Given the description of an element on the screen output the (x, y) to click on. 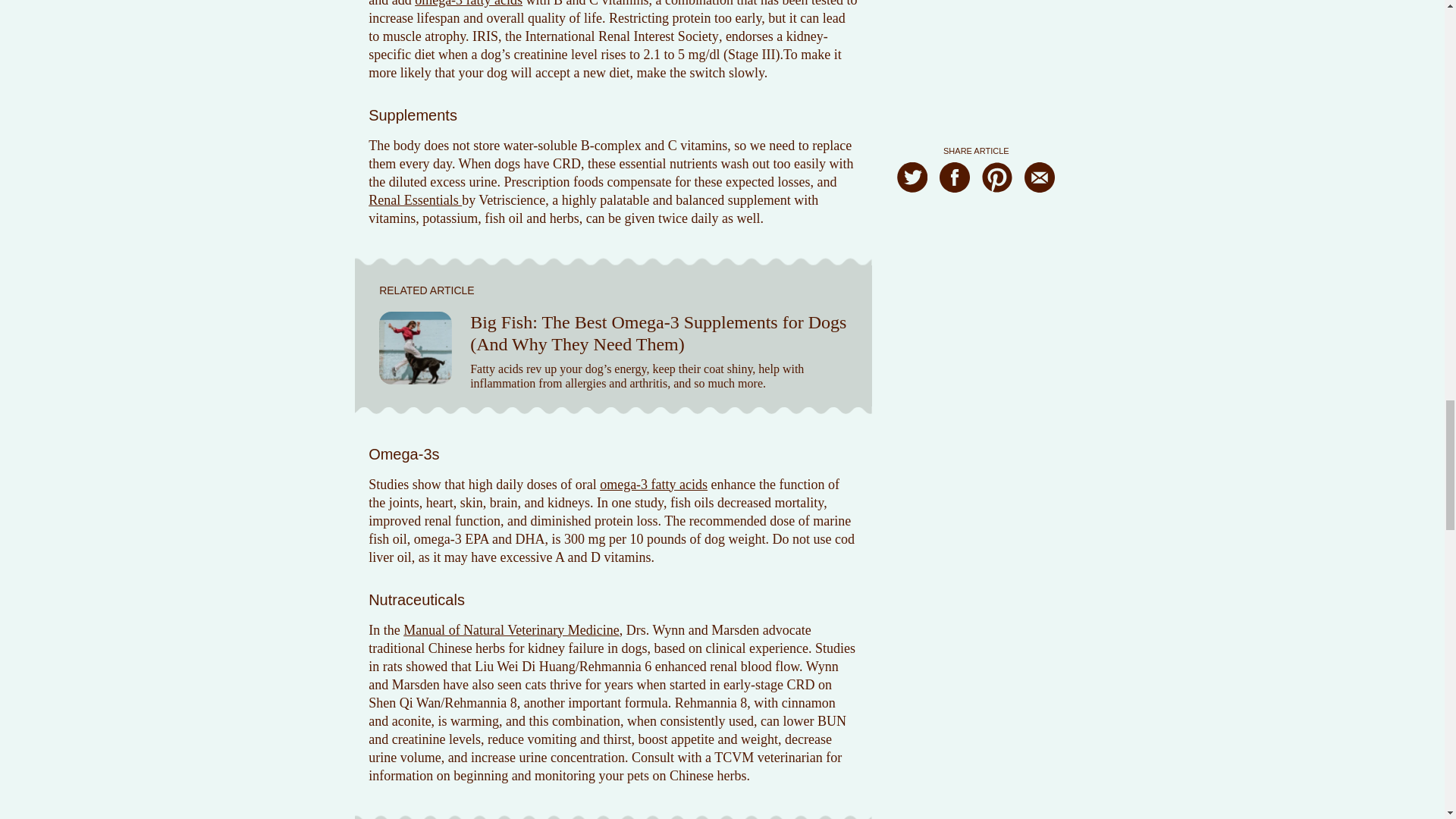
Manual of Natural Veterinary Medicine (511, 630)
omega-3 fatty acids (653, 484)
Renal Essentials (414, 200)
omega-3 fatty acids (468, 3)
